Given the description of an element on the screen output the (x, y) to click on. 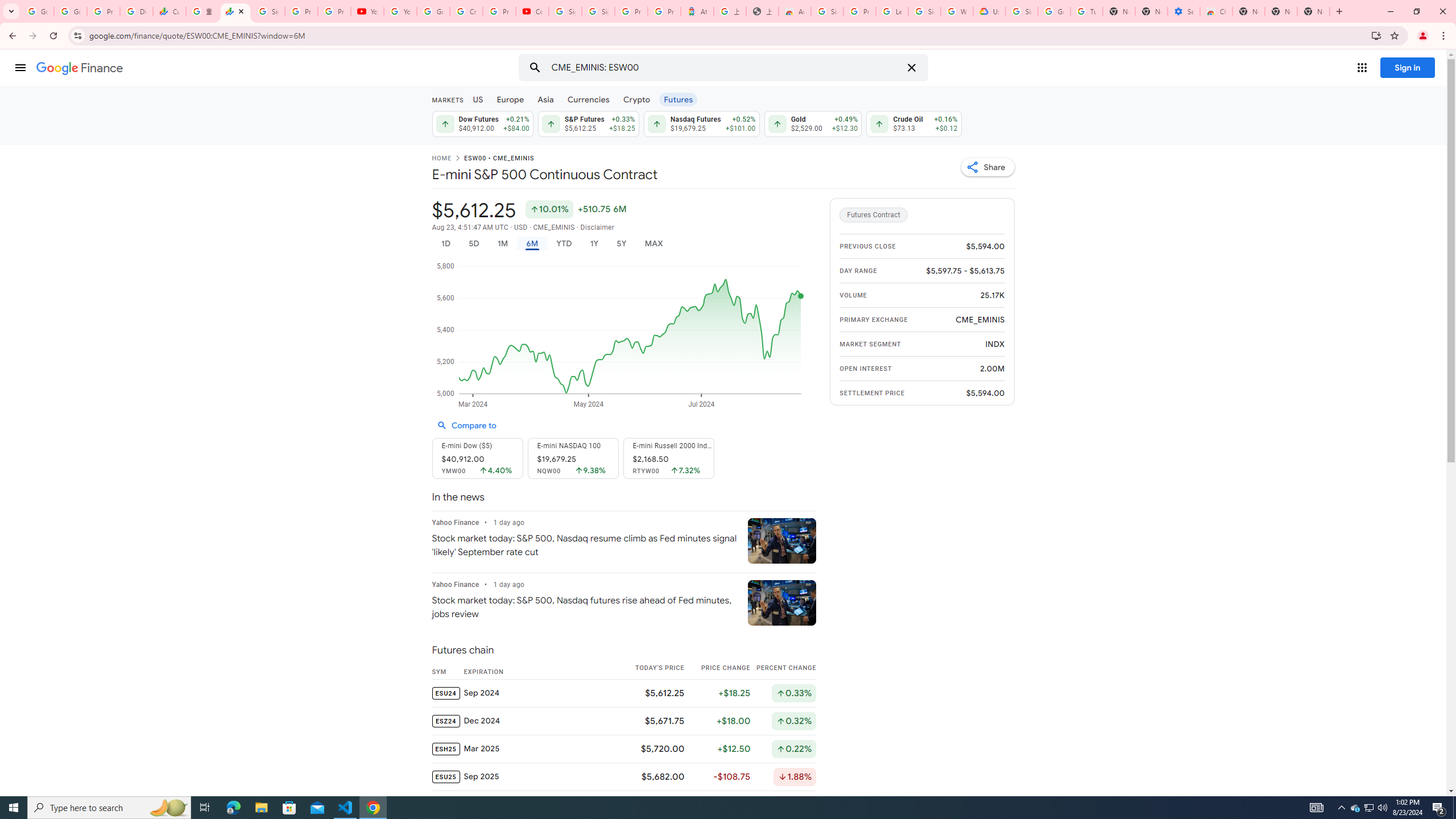
HOME (440, 158)
Sign in - Google Accounts (924, 11)
Sign in - Google Accounts (268, 11)
1Y (594, 243)
ESZ24 Dec 2024 $5,671.75 +$18.00 Up by 0.32% (623, 719)
Currencies - Google Finance (169, 11)
Sign in - Google Accounts (1021, 11)
Create your Google Account (465, 11)
Privacy Checkup (334, 11)
S&P Futures $5,612.25 Up by 0.33% +$18.25 (588, 123)
